Given the description of an element on the screen output the (x, y) to click on. 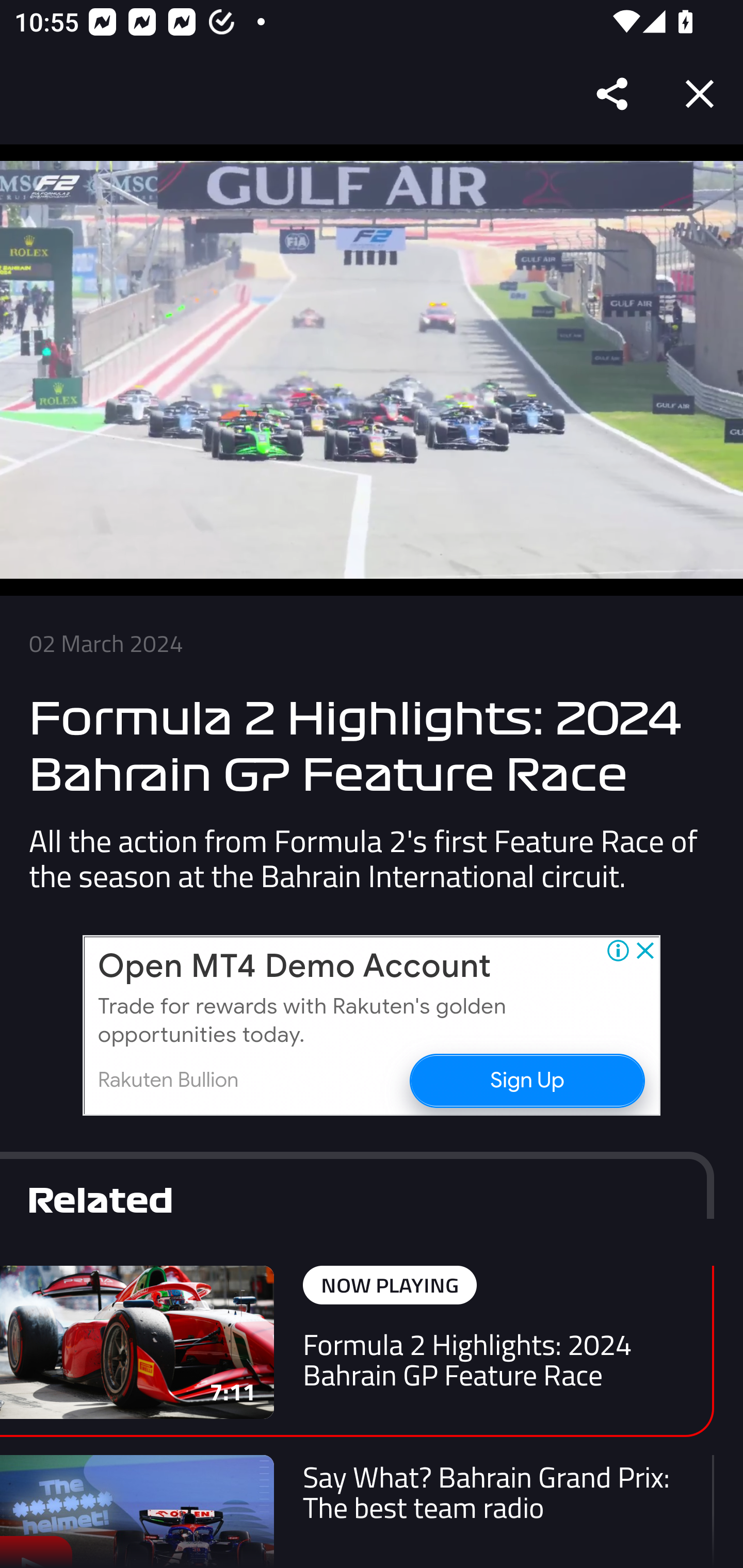
Share (612, 93)
Close (699, 93)
Video Player (371, 369)
Open MT4 Demo Account (294, 966)
Sign Up (526, 1080)
Rakuten Bullion (168, 1080)
